Given the description of an element on the screen output the (x, y) to click on. 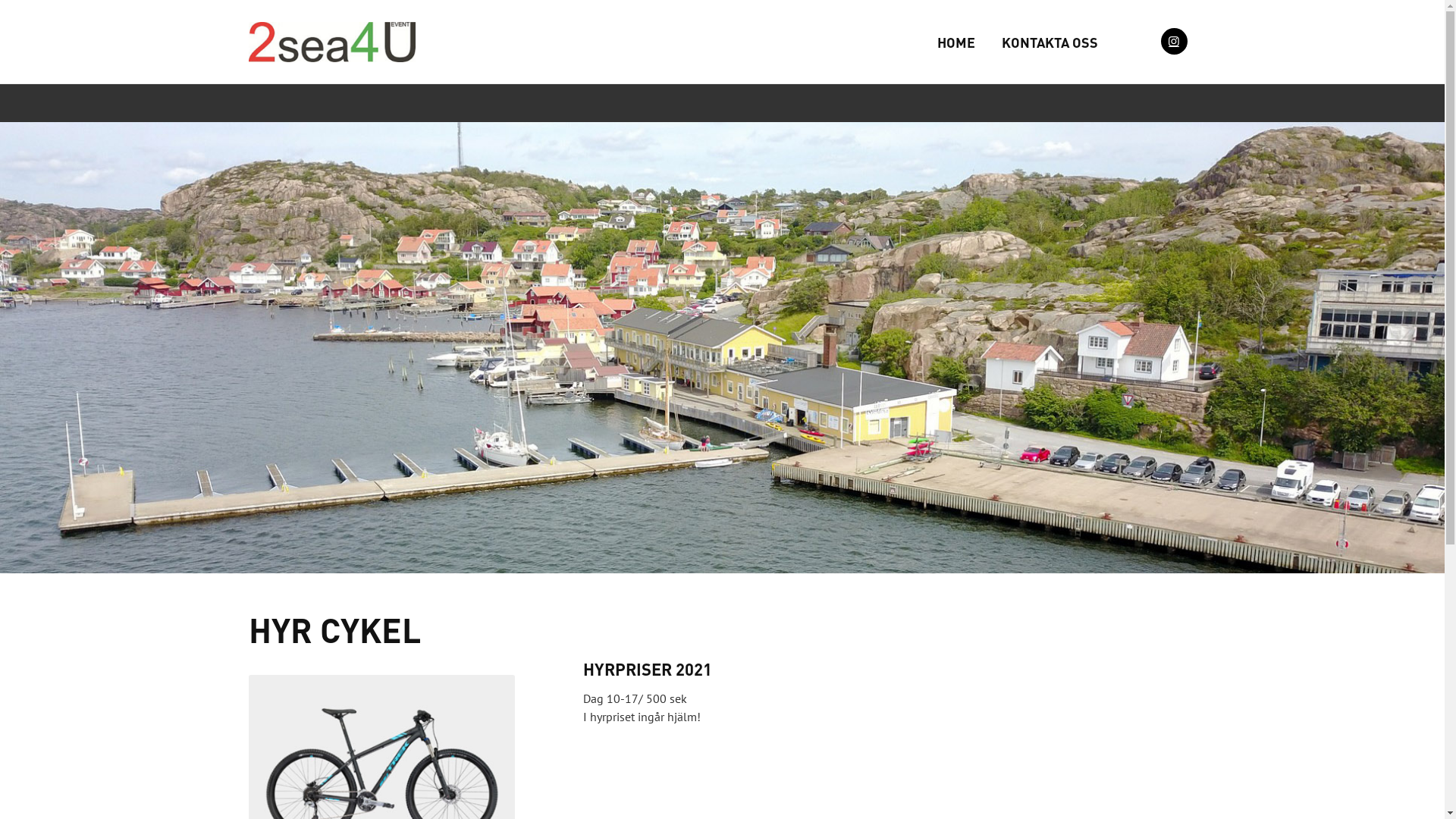
DJI_0222_1920 Element type: hover (722, 347)
KONTAKTA OSS Element type: text (1049, 41)
Instagram Element type: hover (1173, 41)
HOME Element type: text (956, 41)
